Given the description of an element on the screen output the (x, y) to click on. 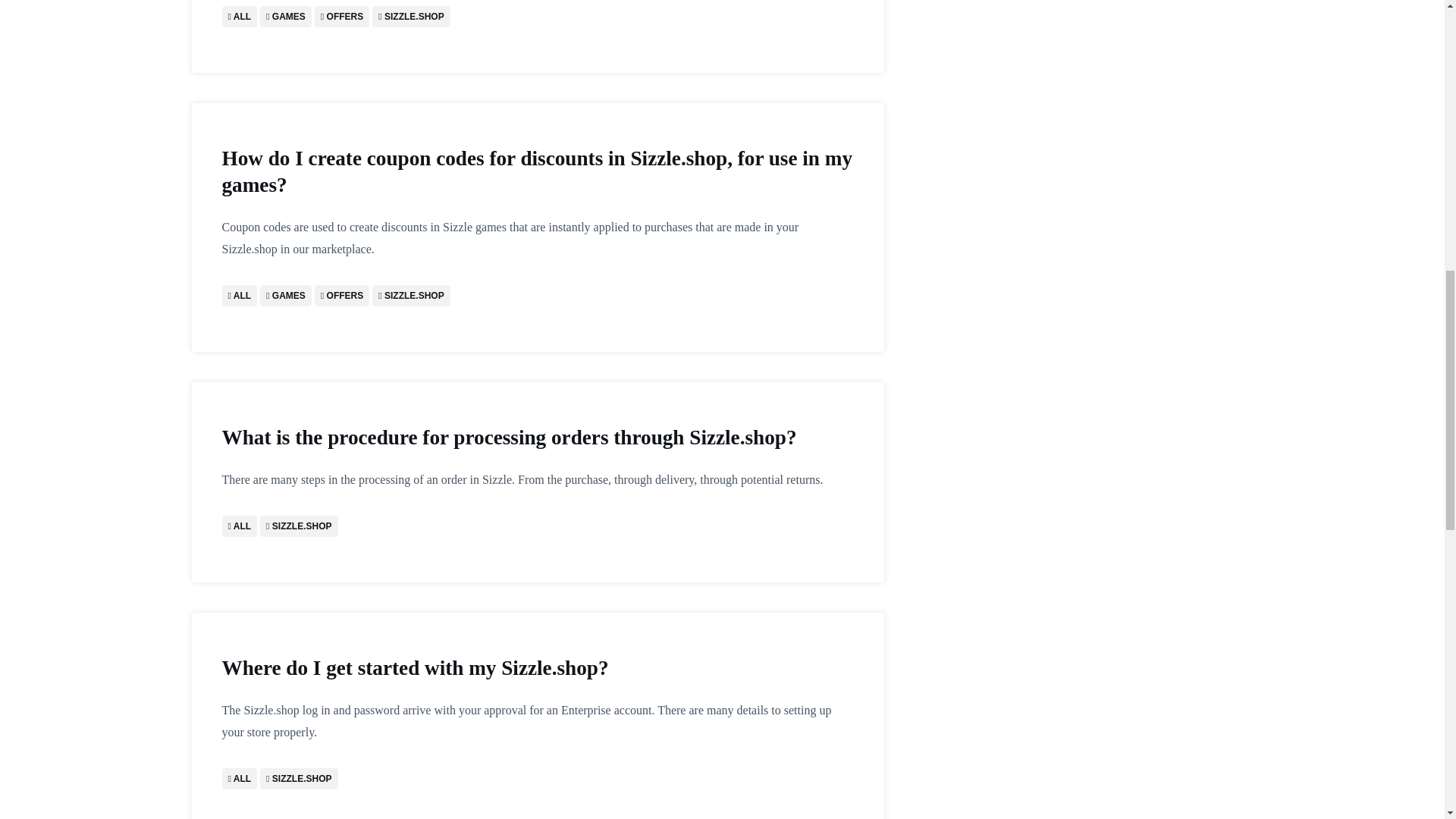
Where do I get started with my Sizzle.shop? (537, 668)
